Given the description of an element on the screen output the (x, y) to click on. 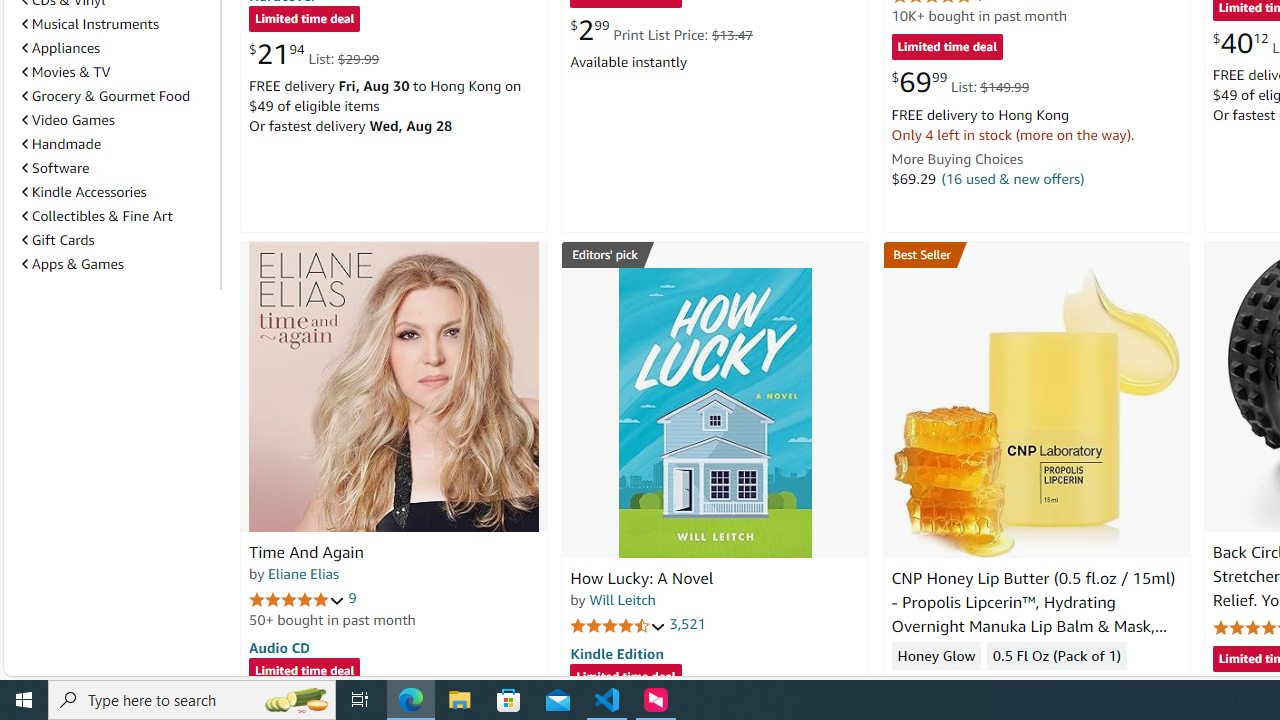
(16 used & new offers) (1012, 178)
Collectibles & Fine Art (117, 215)
Best Seller in Lip Butters (1036, 254)
Gift Cards (117, 239)
Apps & Games (117, 264)
Grocery & Gourmet Food (105, 96)
Kindle Accessories (84, 191)
Movies & TV (117, 71)
Appliances (117, 48)
Appliances (61, 47)
$2.99 Print List Price: $13.47 (660, 30)
Limited time deal (625, 678)
Eliane Elias (303, 573)
Gift Cards (57, 240)
